Given the description of an element on the screen output the (x, y) to click on. 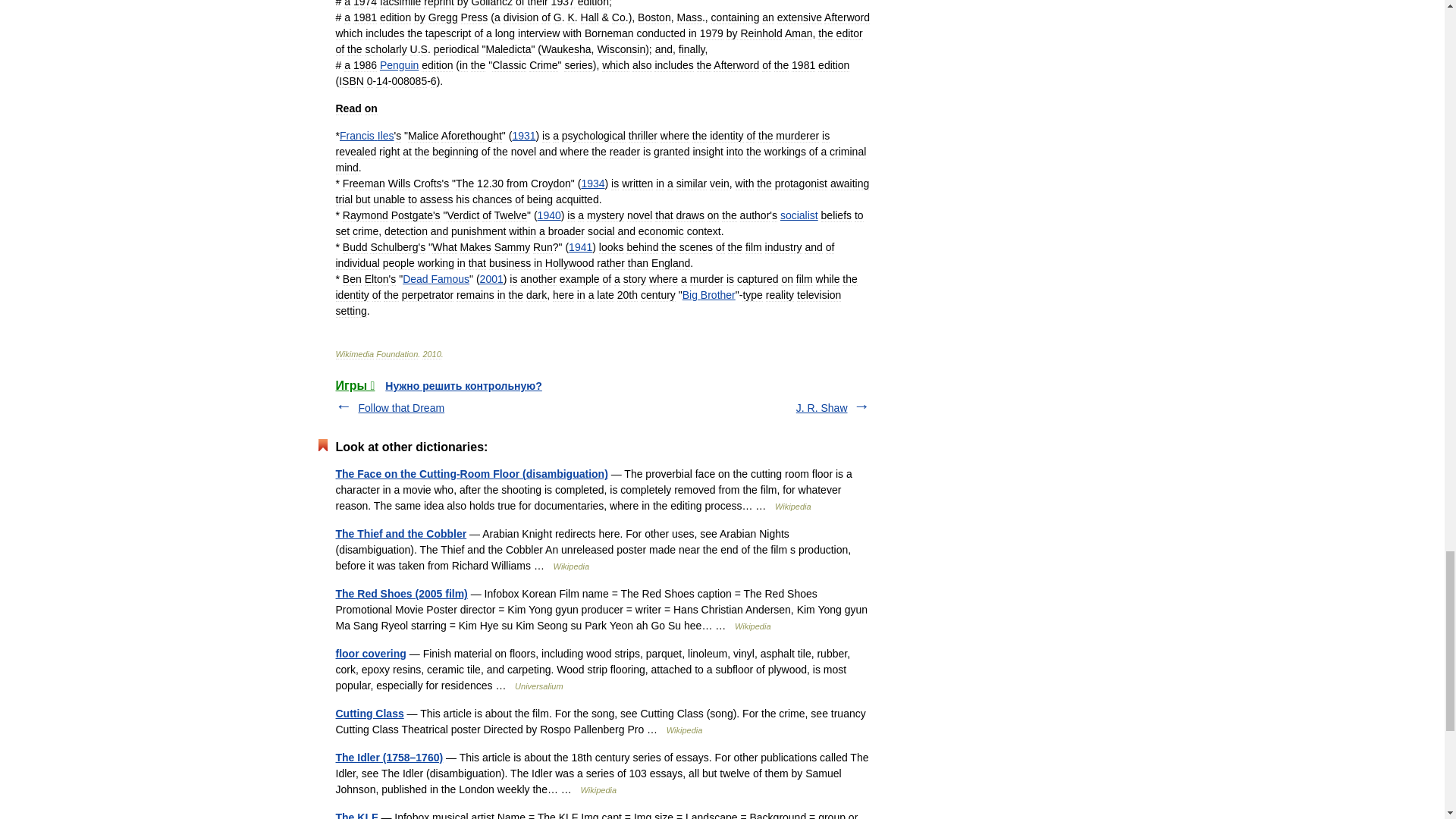
J. R. Shaw (821, 408)
Penguin (399, 64)
Follow that Dream (401, 408)
Francis Iles (366, 135)
